Given the description of an element on the screen output the (x, y) to click on. 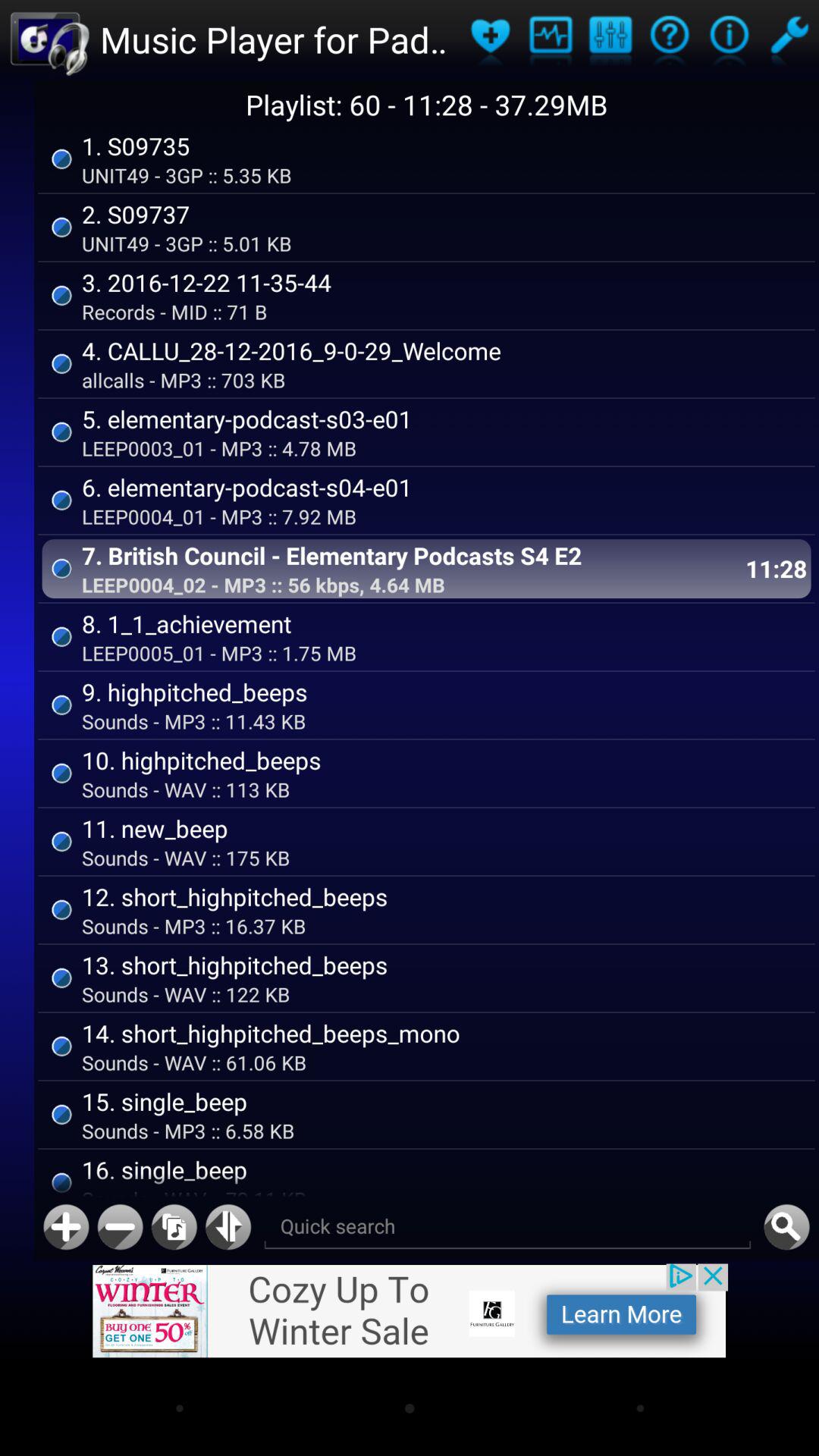
go to add (66, 1226)
